Given the description of an element on the screen output the (x, y) to click on. 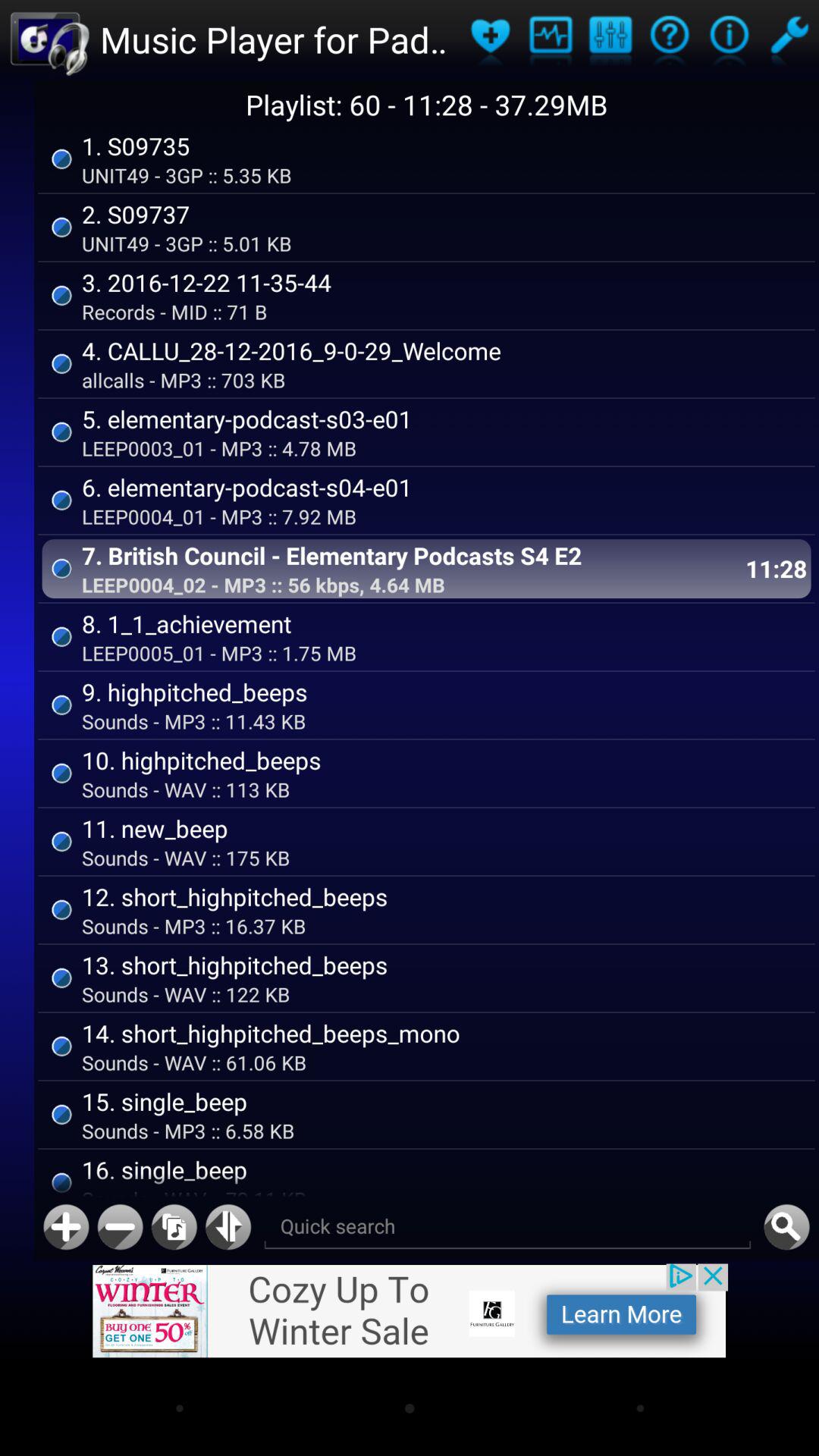
go to add (66, 1226)
